Given the description of an element on the screen output the (x, y) to click on. 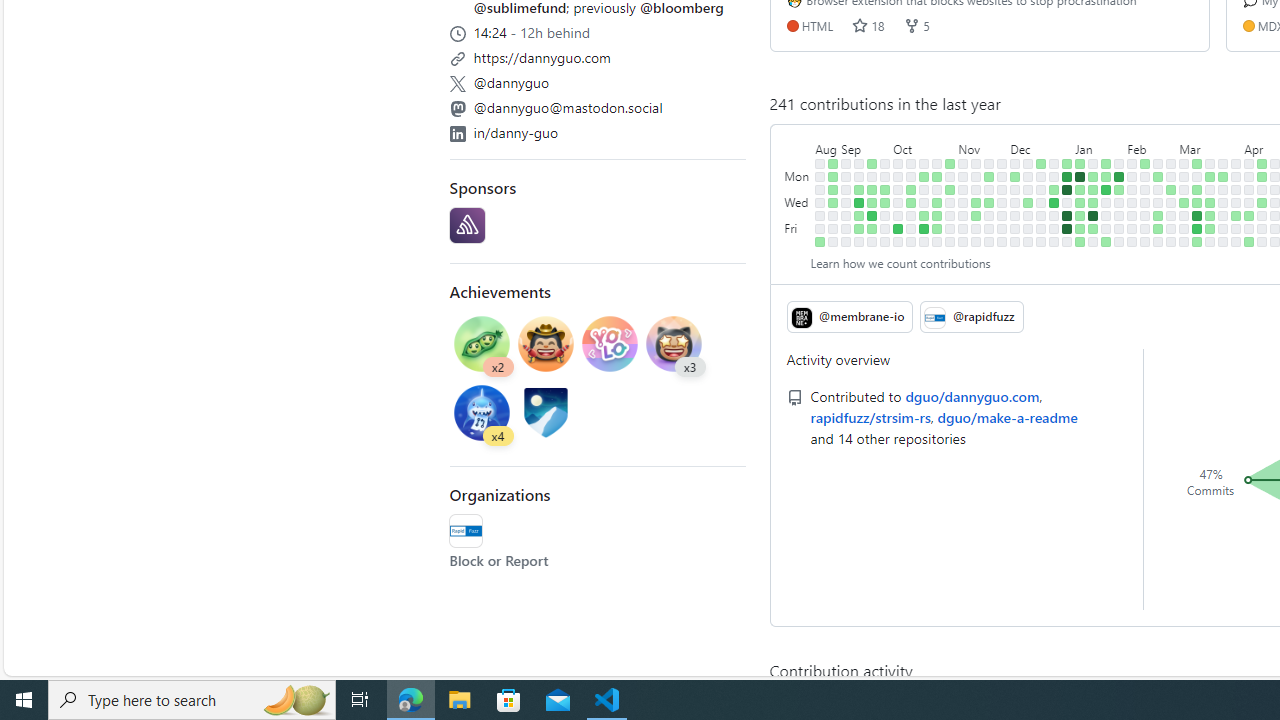
Wednesday (797, 202)
15 contributions on January 4th. (1067, 215)
No contributions on September 6th. (846, 202)
2 contributions on October 31st. (950, 189)
No contributions on November 2nd. (950, 215)
1 contribution on January 15th. (1093, 176)
in/danny-guo (516, 132)
1 contribution on April 14th. (1262, 163)
No contributions on October 17th. (924, 189)
No contributions on February 2nd. (1119, 228)
No contributions on April 8th. (1249, 176)
2 contributions on August 27th. (833, 163)
Achievement: Starstruck x3 (673, 345)
3 contributions on March 22nd. (1210, 228)
1 contribution on November 15th. (976, 202)
